Given the description of an element on the screen output the (x, y) to click on. 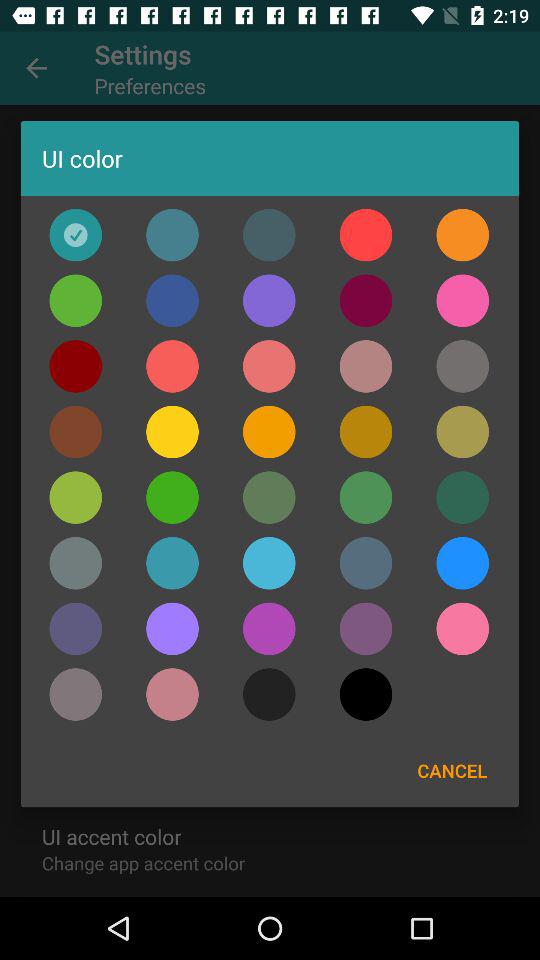
select color (462, 563)
